Given the description of an element on the screen output the (x, y) to click on. 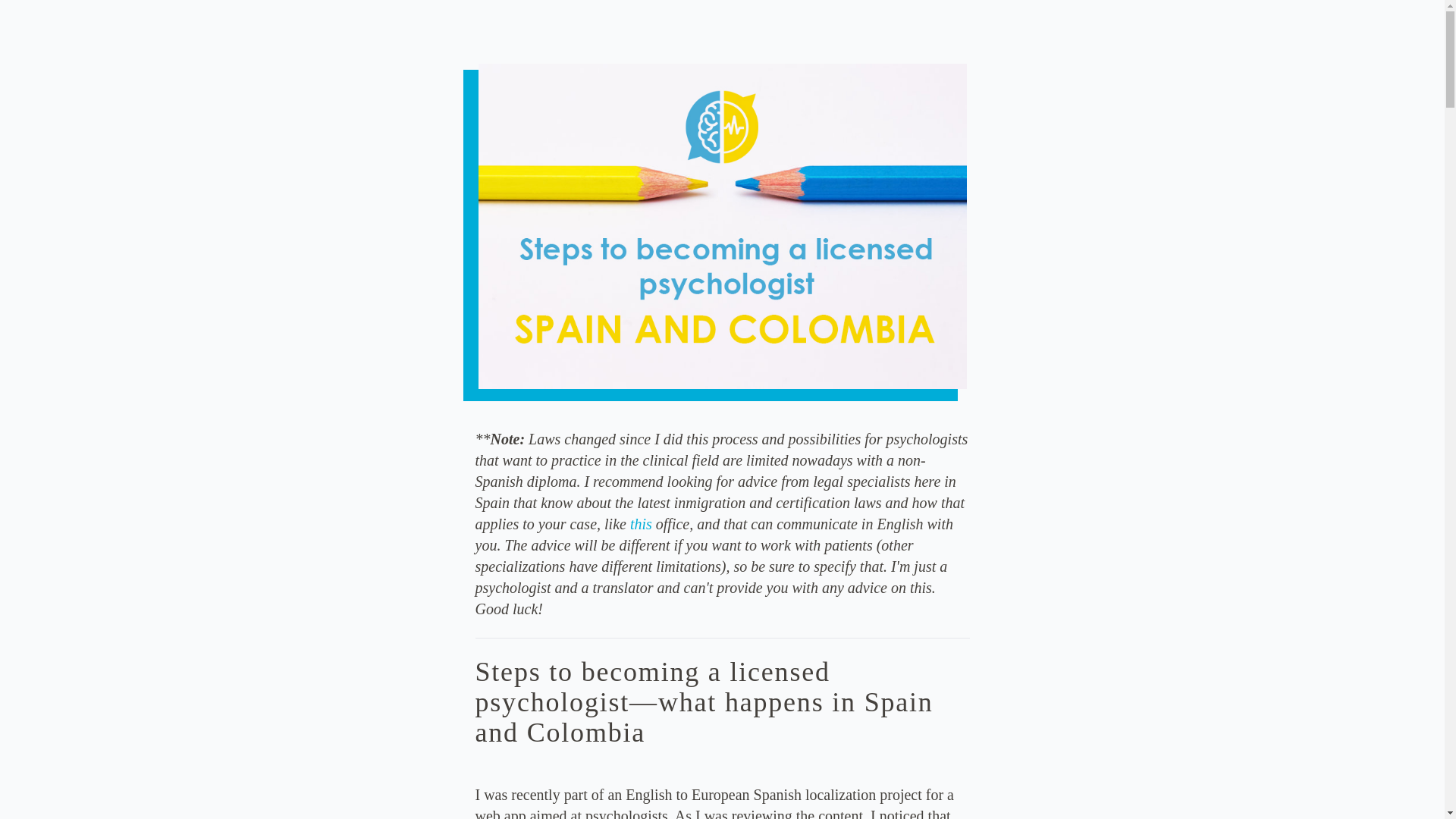
this (641, 523)
